Given the description of an element on the screen output the (x, y) to click on. 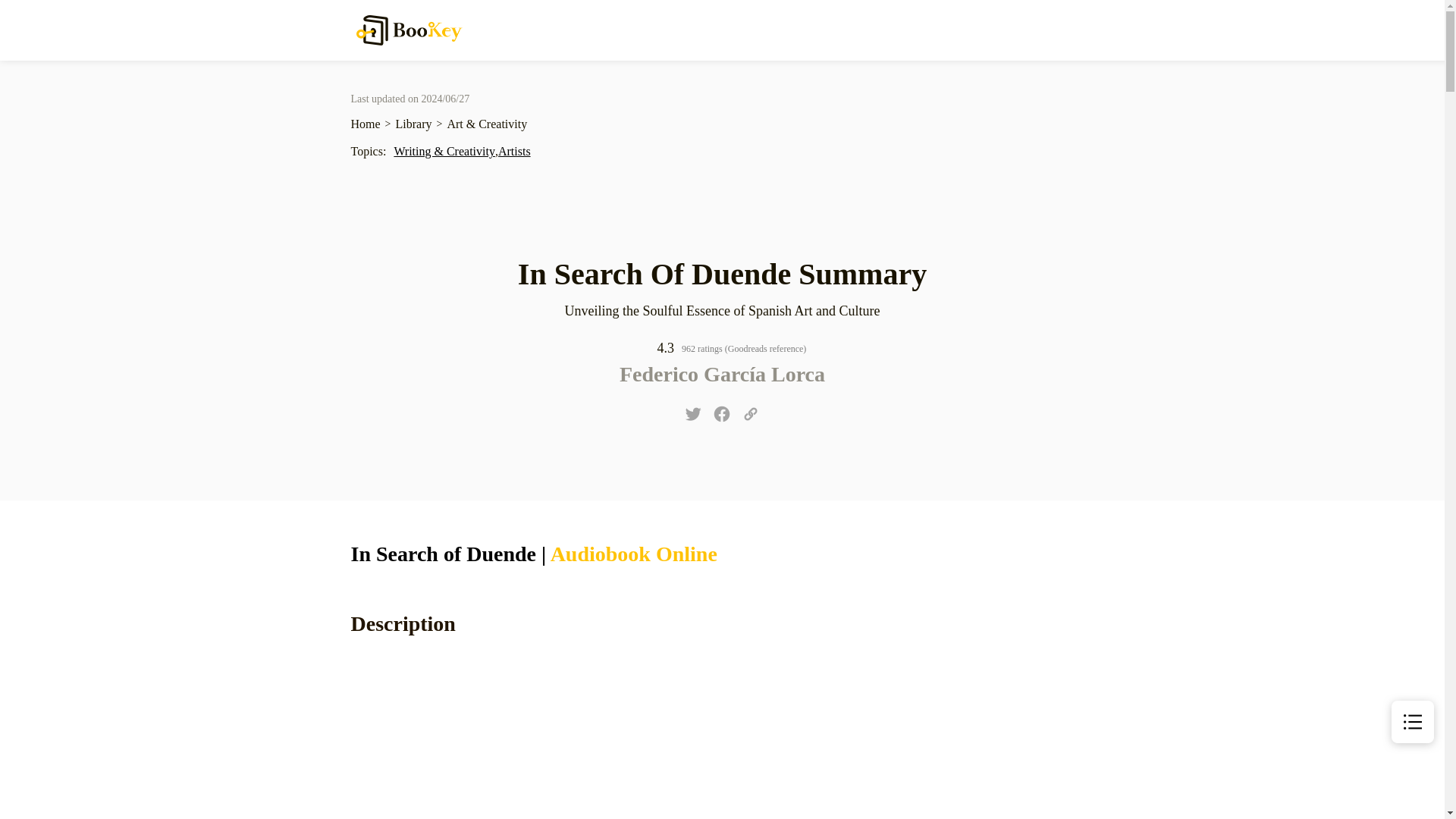
Home (365, 124)
Library (414, 124)
Artists (514, 150)
